Given the description of an element on the screen output the (x, y) to click on. 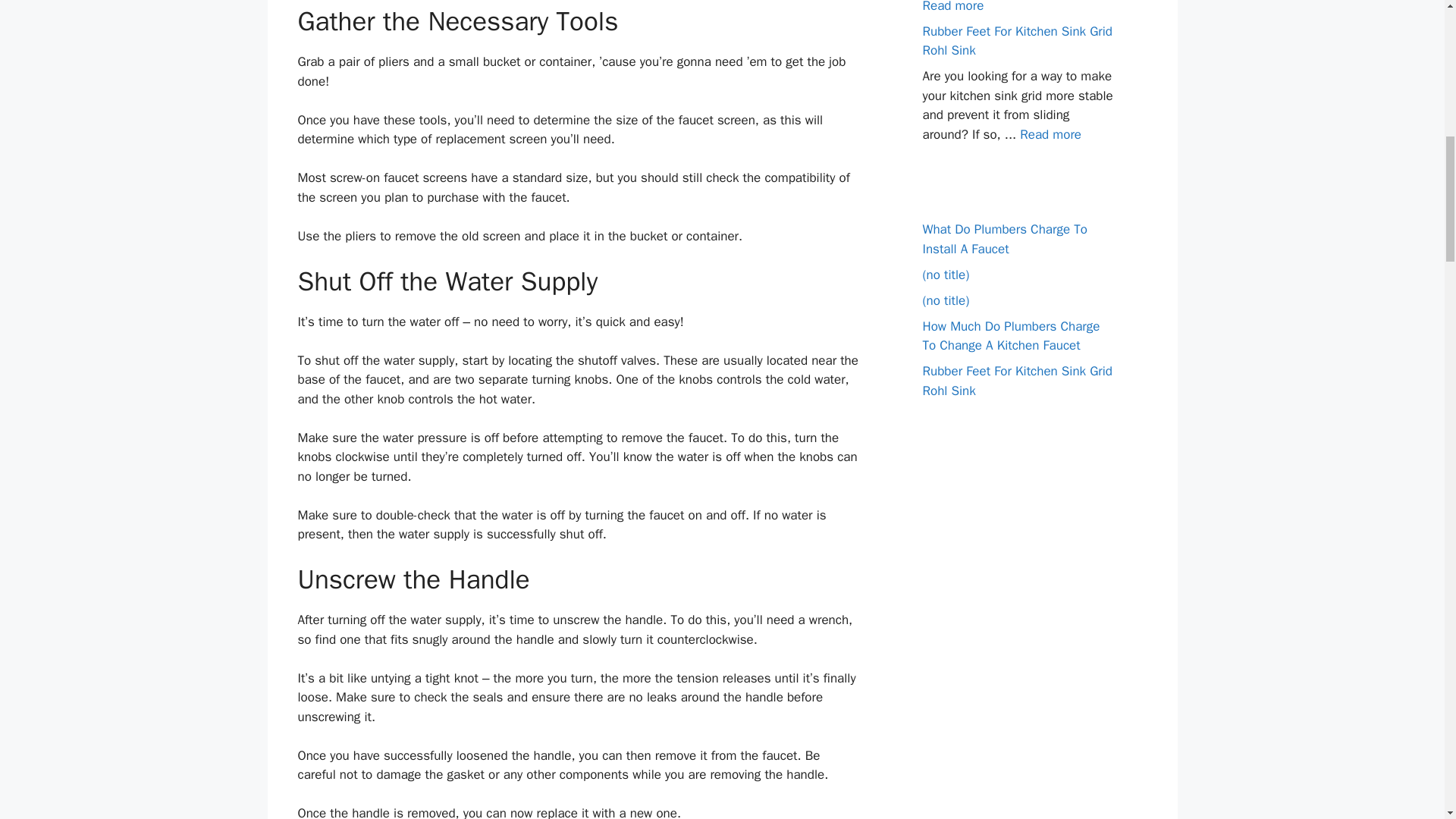
What Do Plumbers Charge To Install A Faucet (1003, 239)
Read more (1050, 133)
Read more (952, 6)
Rubber Feet For Kitchen Sink Grid Rohl Sink (1016, 40)
